Given the description of an element on the screen output the (x, y) to click on. 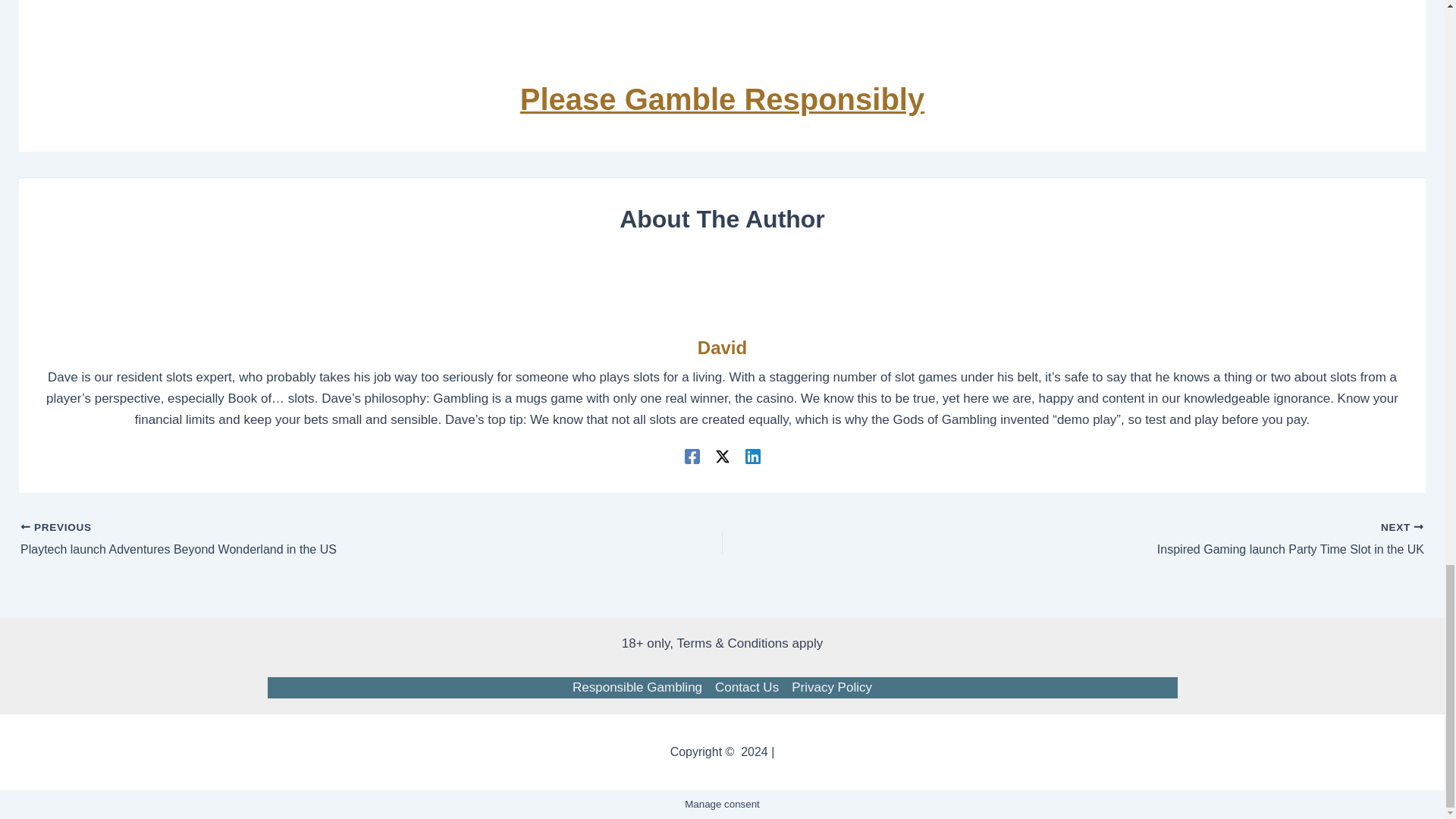
David (722, 348)
Please Gamble Responsibly (721, 99)
Playtech launch Adventures Beyond Wonderland in the US (301, 539)
Inspired Gaming launch Party Time Slot in the UK (1142, 539)
